Given the description of an element on the screen output the (x, y) to click on. 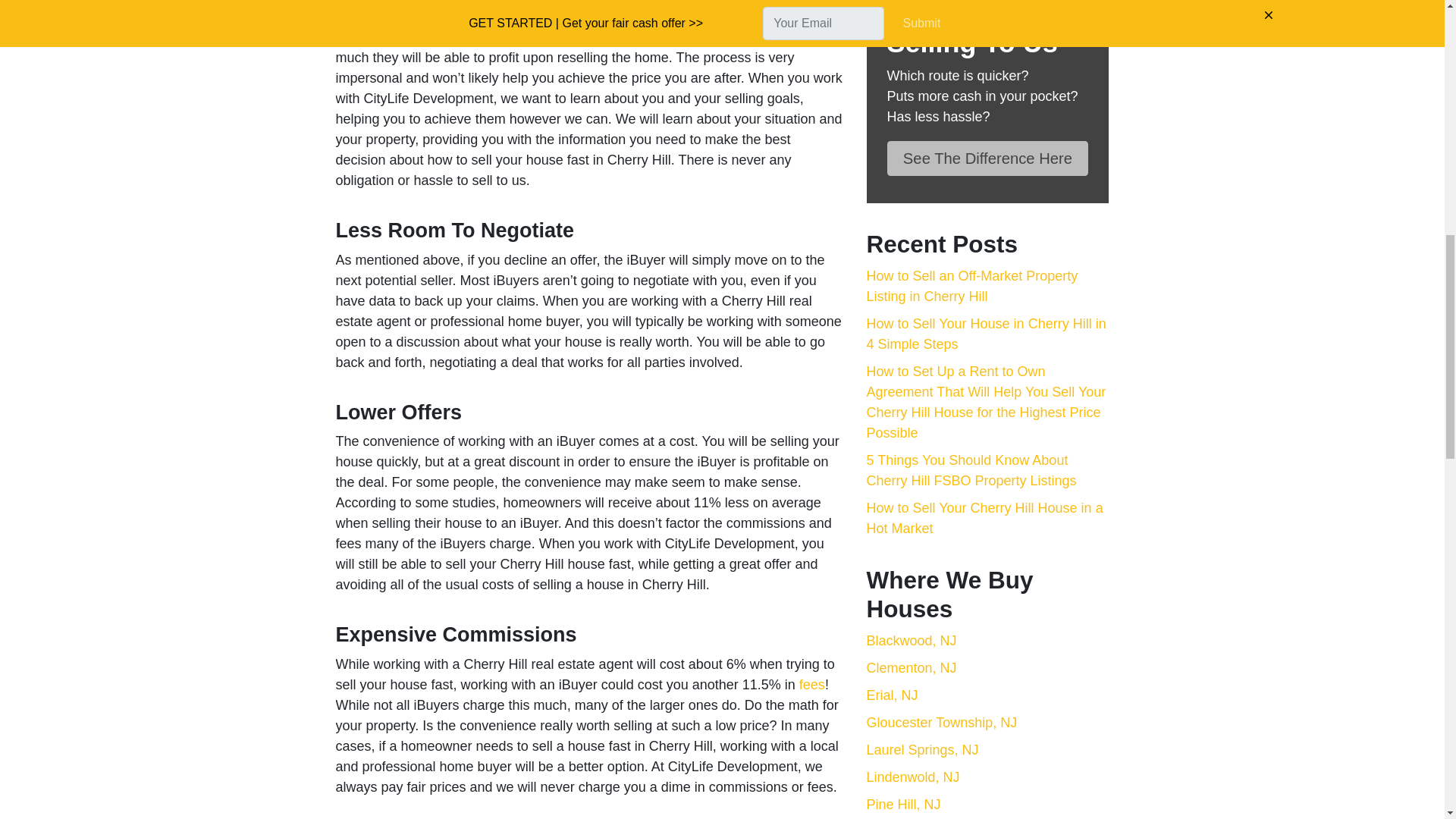
Pine Hill, NJ (903, 804)
Blackwood, NJ (911, 640)
See The Difference Here (987, 158)
How to Sell an Off-Market Property Listing in Cherry Hill (971, 285)
Clementon, NJ (911, 667)
fees (812, 684)
Erial, NJ (891, 694)
Lindenwold, NJ (912, 776)
How to Sell Your Cherry Hill House in a Hot Market (984, 518)
Gloucester Township, NJ (941, 722)
How to Sell Your House in Cherry Hill in 4 Simple Steps (985, 334)
Laurel Springs, NJ (922, 749)
